Given the description of an element on the screen output the (x, y) to click on. 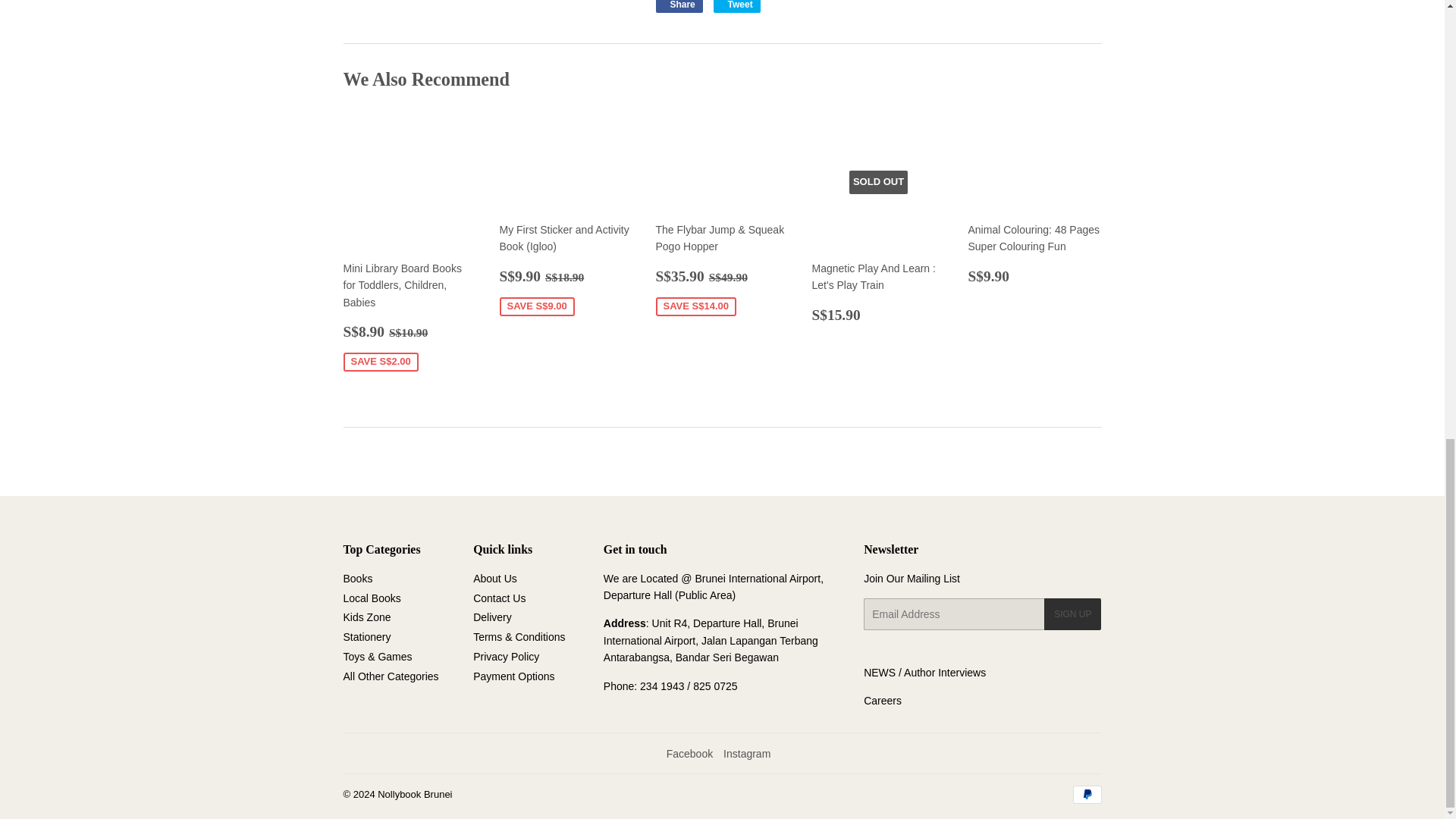
Tweet on Twitter (736, 6)
News (879, 672)
Nollybook Brunei on Instagram (746, 753)
Author Interviews (944, 672)
PayPal (1085, 794)
Nollybook Brunei on Facebook (689, 753)
Share on Facebook (678, 6)
